Given the description of an element on the screen output the (x, y) to click on. 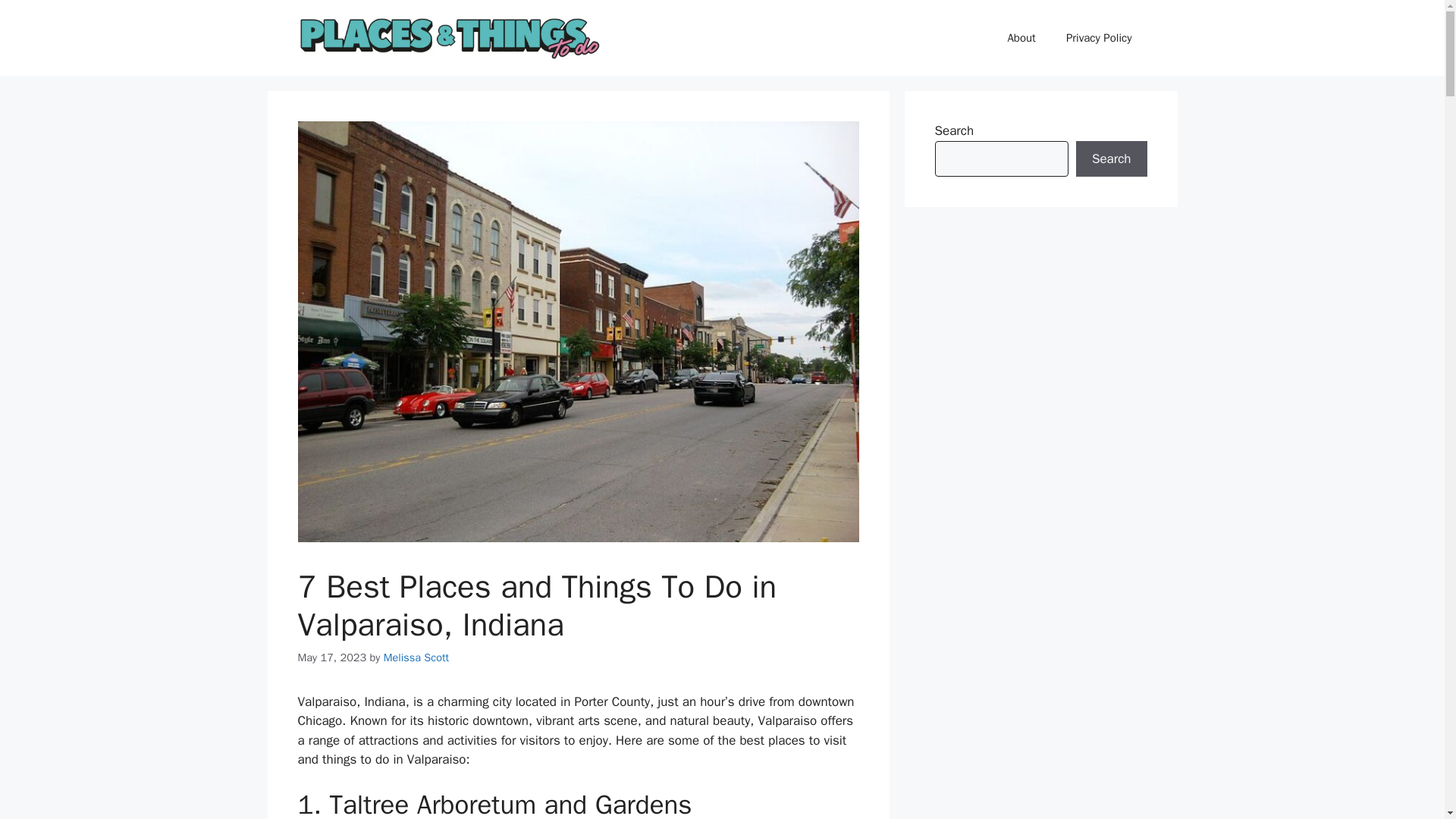
About (1020, 37)
View all posts by Melissa Scott (416, 657)
Melissa Scott (416, 657)
Privacy Policy (1099, 37)
Search (1111, 158)
